Given the description of an element on the screen output the (x, y) to click on. 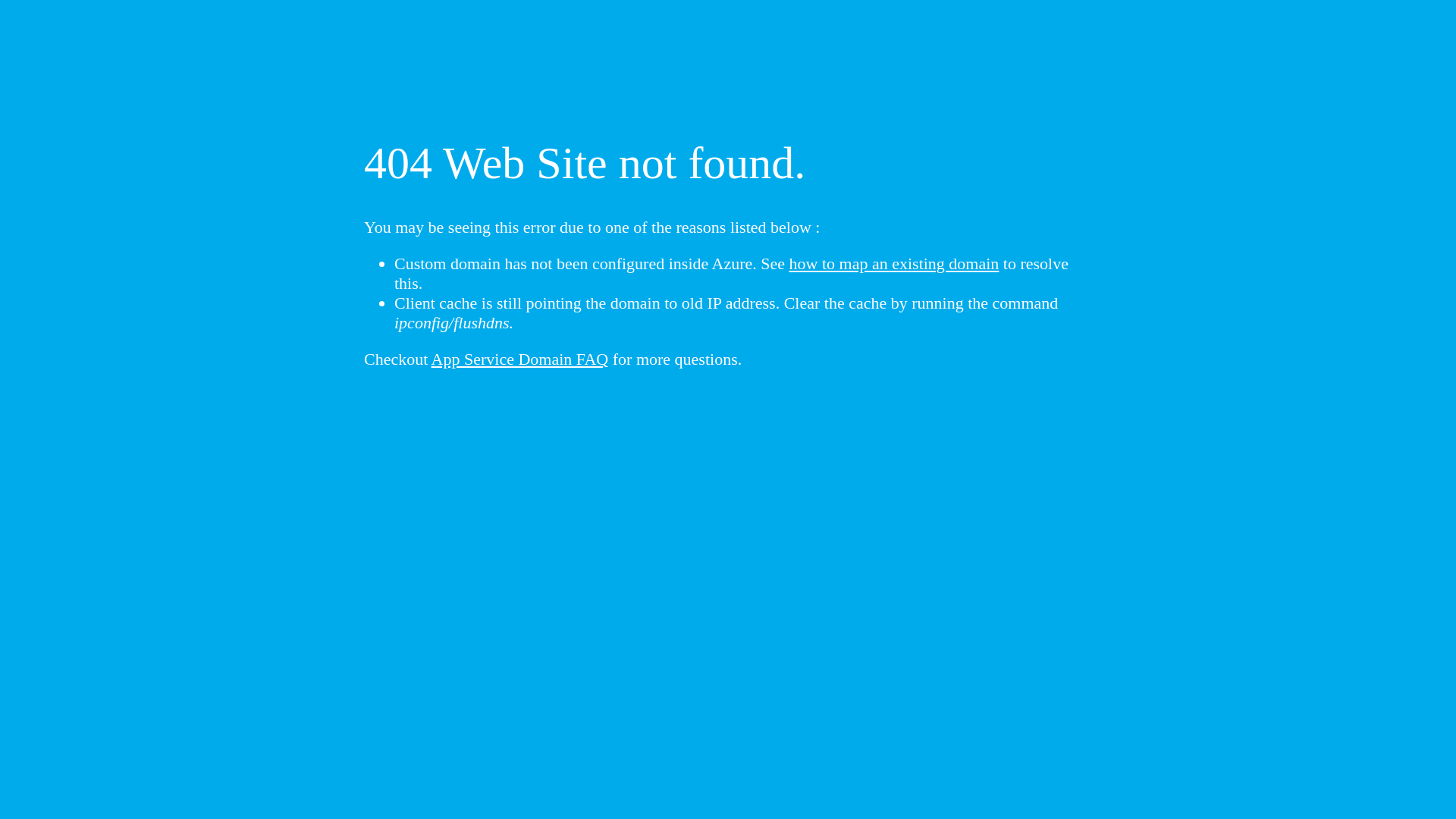
how to map an existing domain Element type: text (894, 263)
App Service Domain FAQ Element type: text (519, 358)
